Given the description of an element on the screen output the (x, y) to click on. 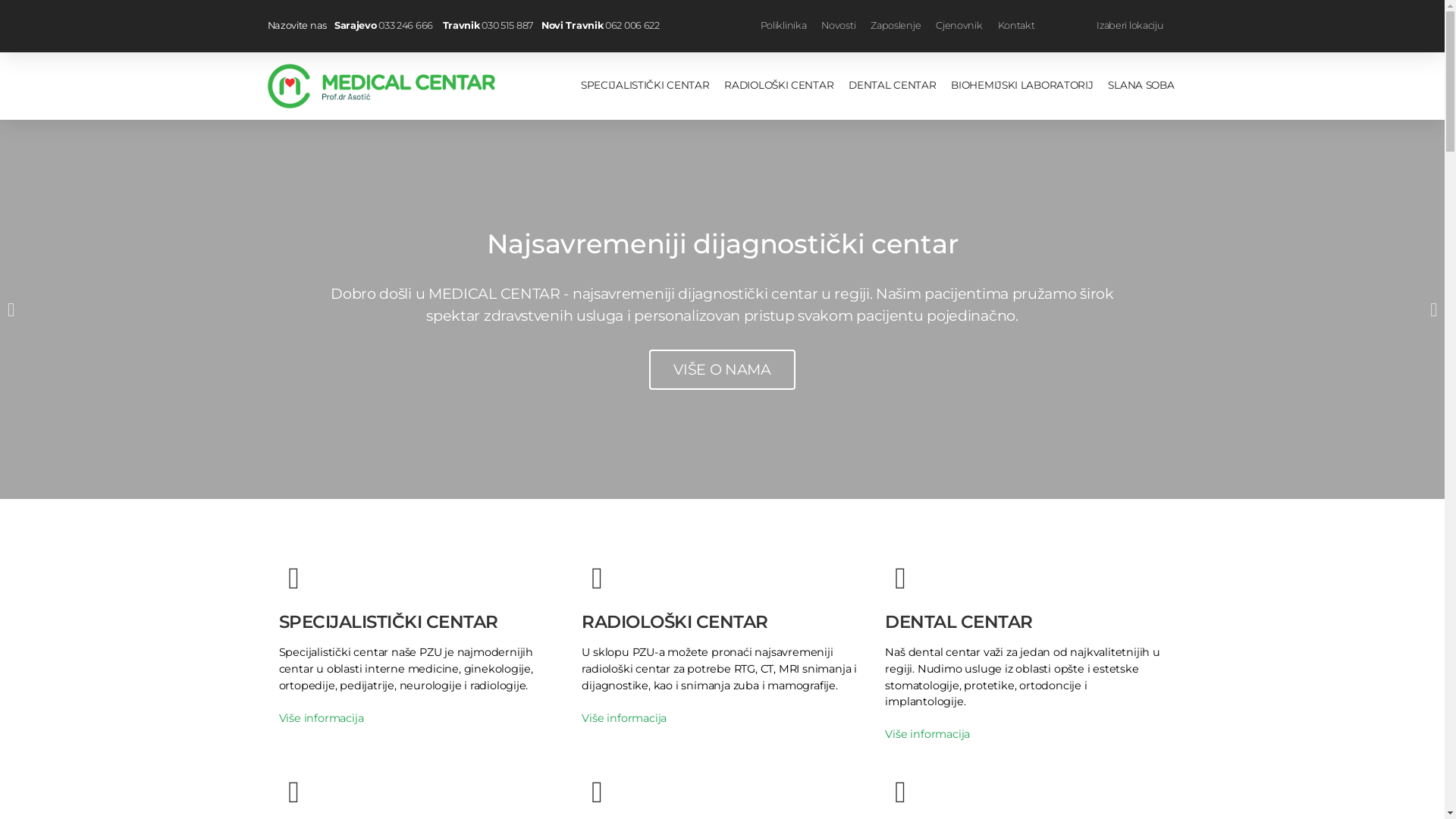
Novosti Element type: text (838, 25)
BIOHEMIJSKI LABORATORIJ Element type: text (1021, 85)
SLANA SOBA Element type: text (1140, 85)
Kontakt Element type: text (1016, 25)
DENTAL CENTAR Element type: text (958, 621)
033 246 666 Element type: text (405, 25)
062 006 622 Element type: text (632, 25)
Poliklinika Element type: text (783, 25)
DENTAL CENTAR Element type: text (891, 85)
030 515 887 Element type: text (507, 25)
Zaposlenje Element type: text (895, 25)
Cjenovnik Element type: text (958, 25)
Izaberi lokaciju Element type: text (1129, 25)
